Given the description of an element on the screen output the (x, y) to click on. 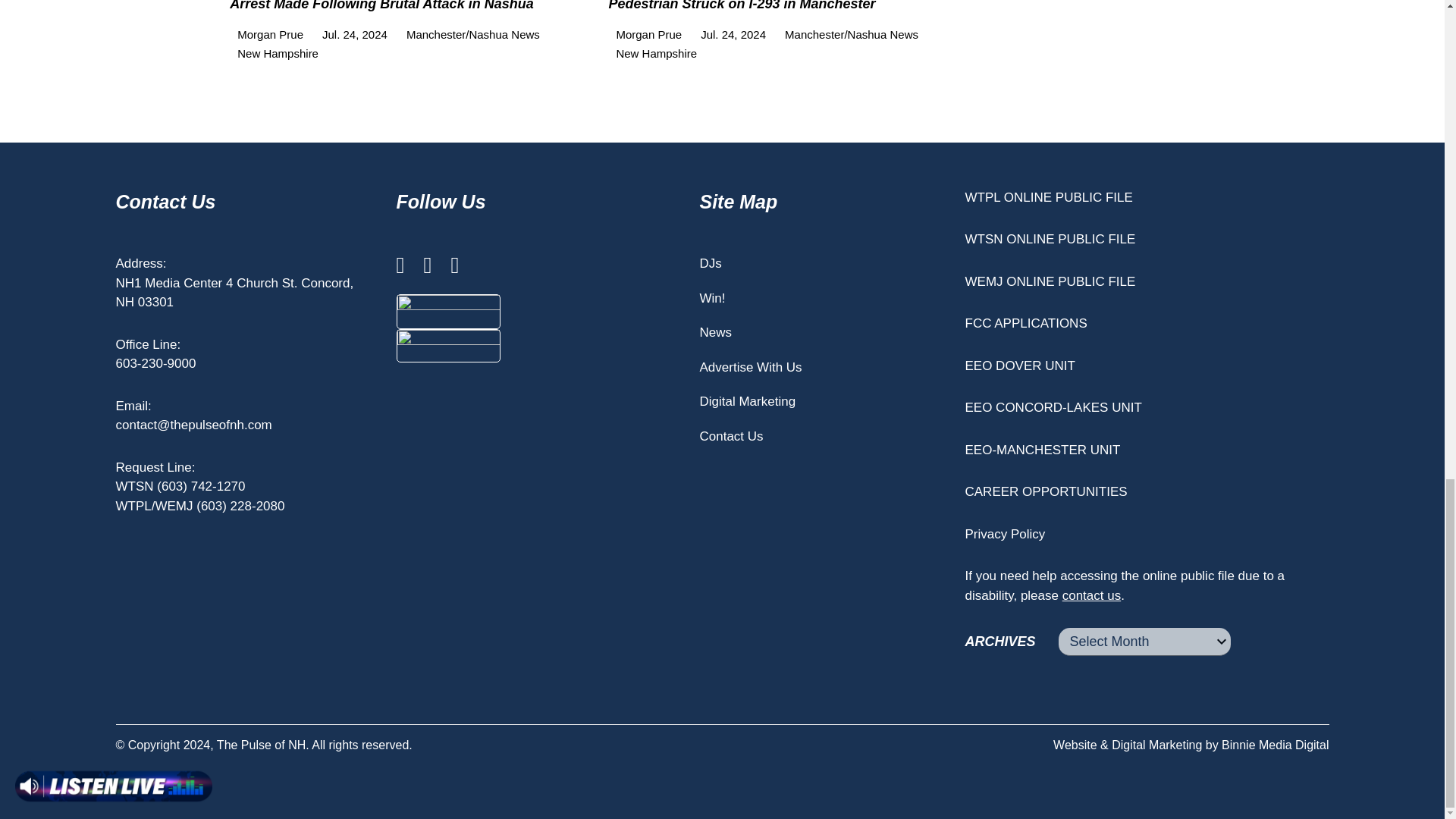
App Store (448, 311)
